Given the description of an element on the screen output the (x, y) to click on. 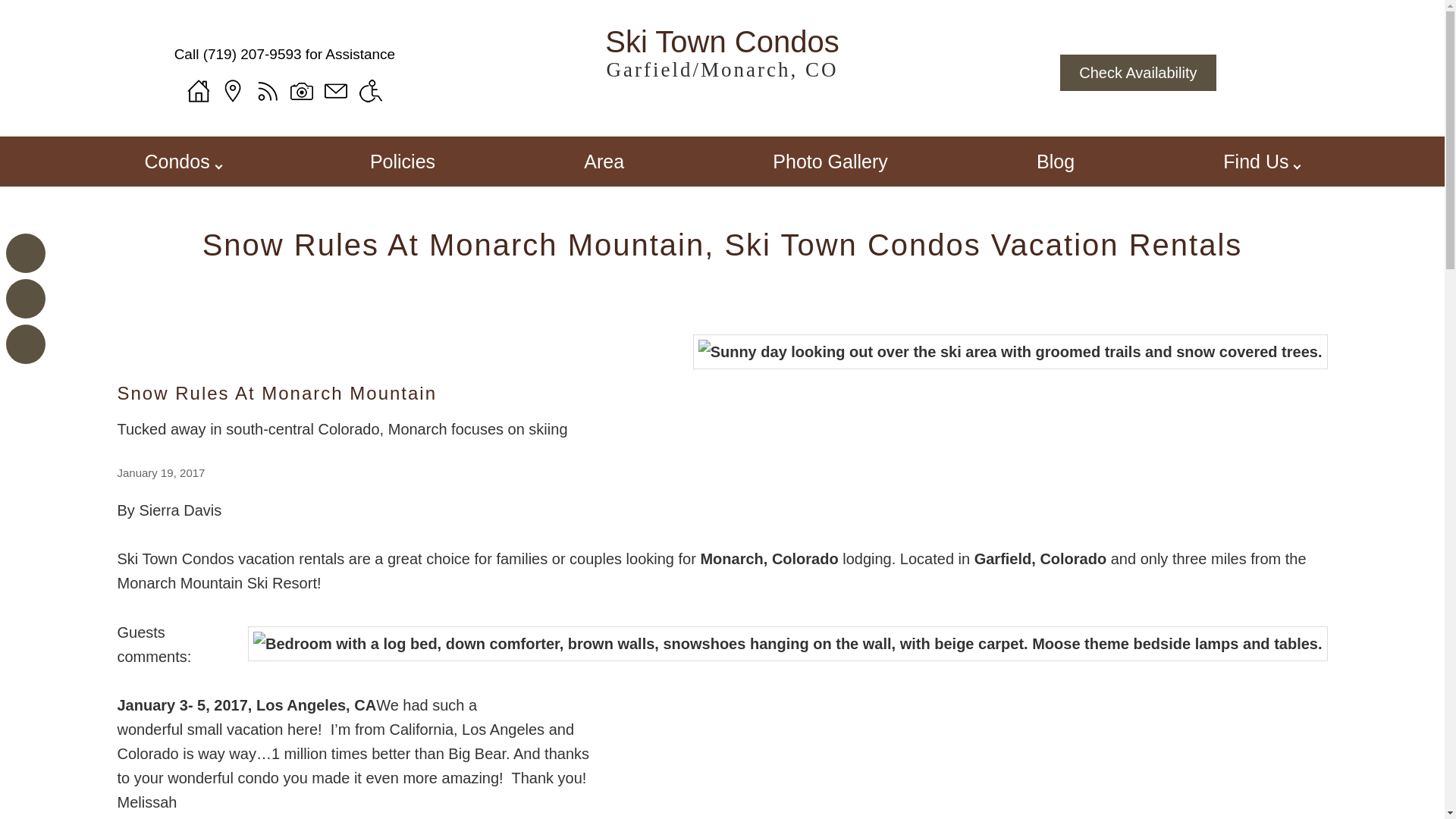
Home (198, 90)
Condos (176, 161)
Driving Directions (232, 90)
Photo Gallery (829, 161)
Check Availability (1137, 72)
Ski Town Condos (721, 54)
Policies (402, 161)
Find Us (1255, 161)
